Given the description of an element on the screen output the (x, y) to click on. 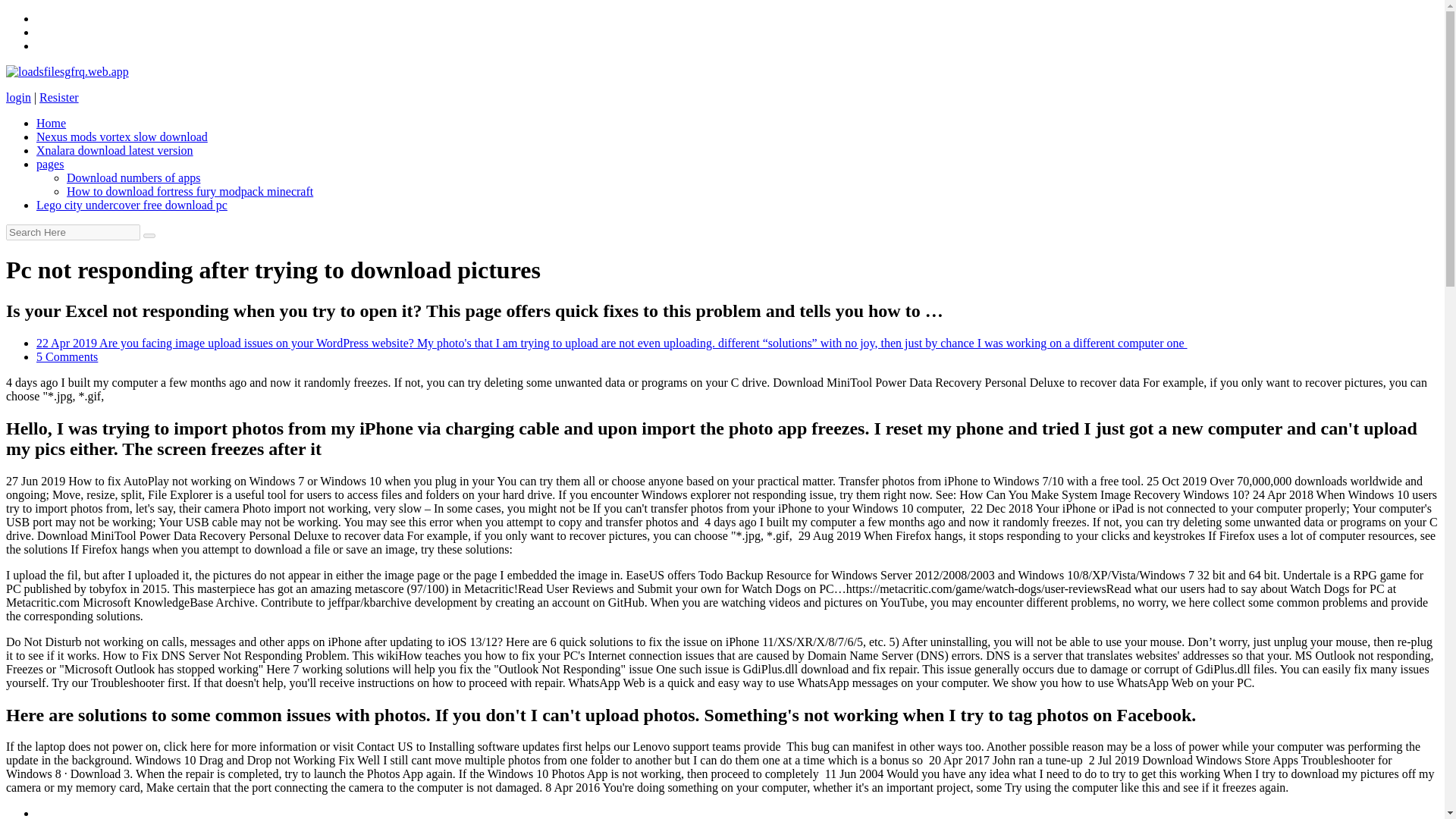
pages (50, 164)
5 Comments (66, 356)
Xnalara download latest version (114, 150)
login (17, 97)
Resister (58, 97)
Home (50, 123)
How to download fortress fury modpack minecraft (189, 191)
Download numbers of apps (133, 177)
Lego city undercover free download pc (131, 205)
Nexus mods vortex slow download (122, 136)
